Given the description of an element on the screen output the (x, y) to click on. 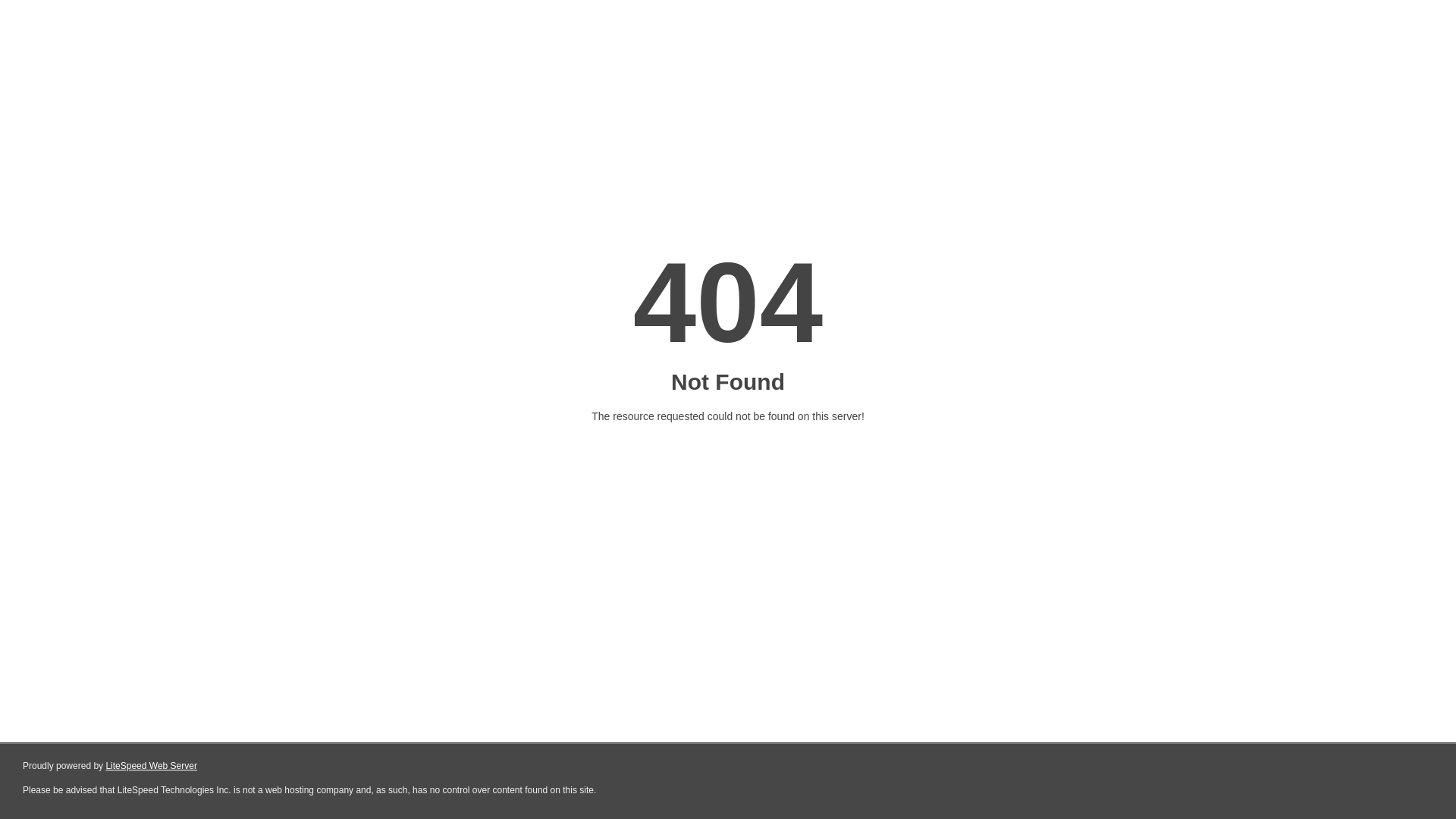
LiteSpeed Web Server Element type: text (151, 765)
